Given the description of an element on the screen output the (x, y) to click on. 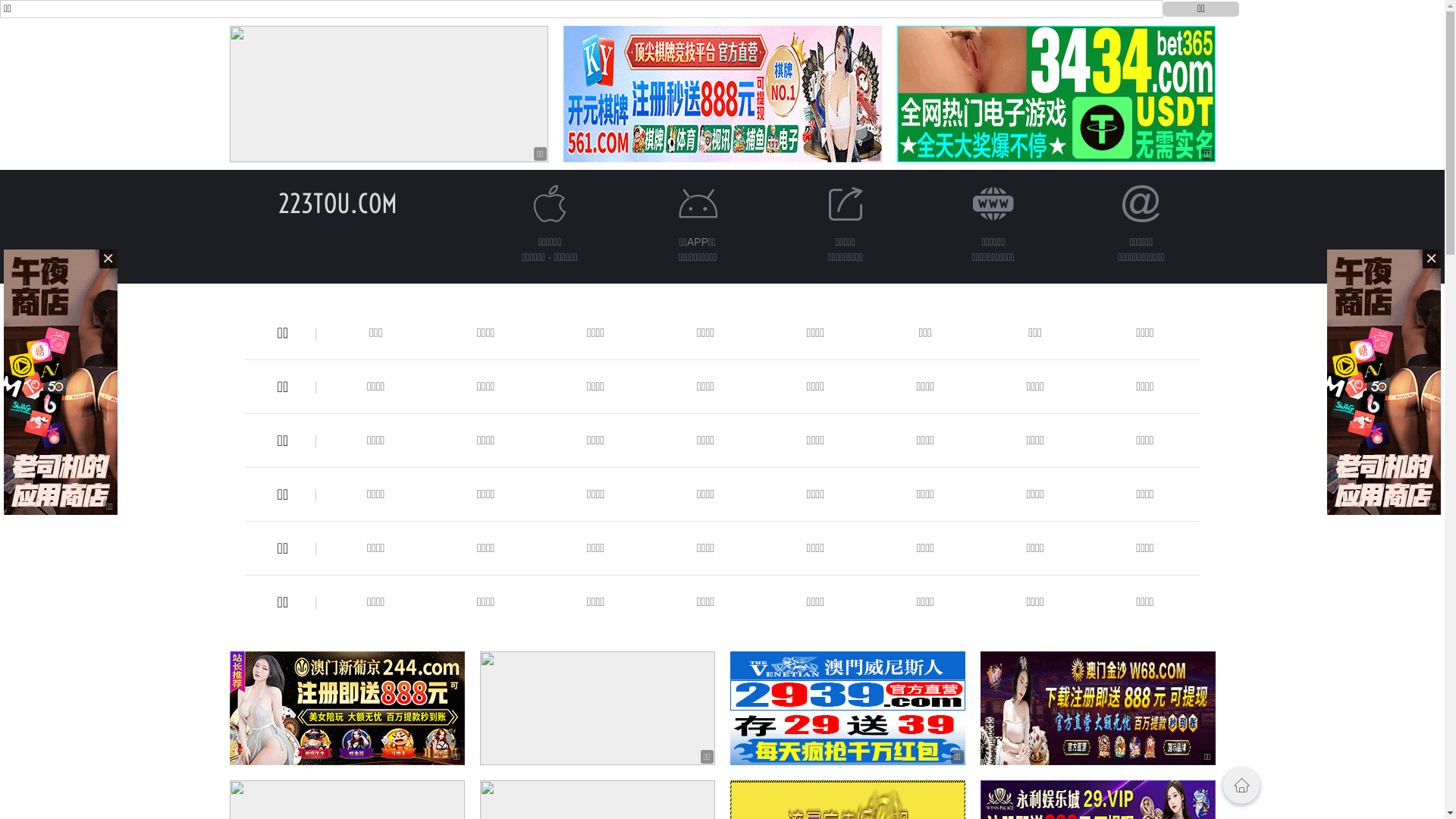
223TOU.COM Element type: text (337, 203)
